Given the description of an element on the screen output the (x, y) to click on. 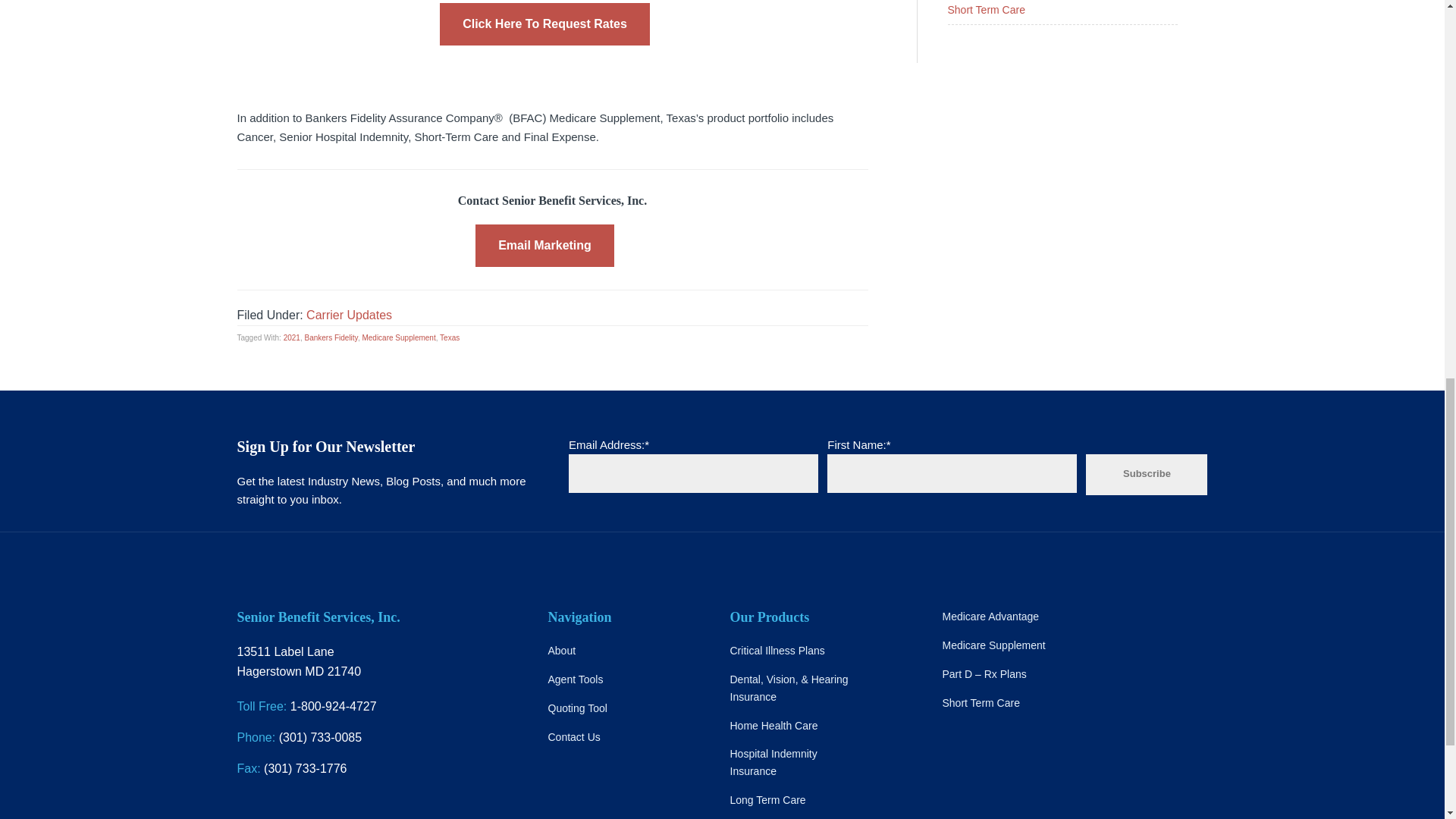
Subscribe (1146, 474)
